Given the description of an element on the screen output the (x, y) to click on. 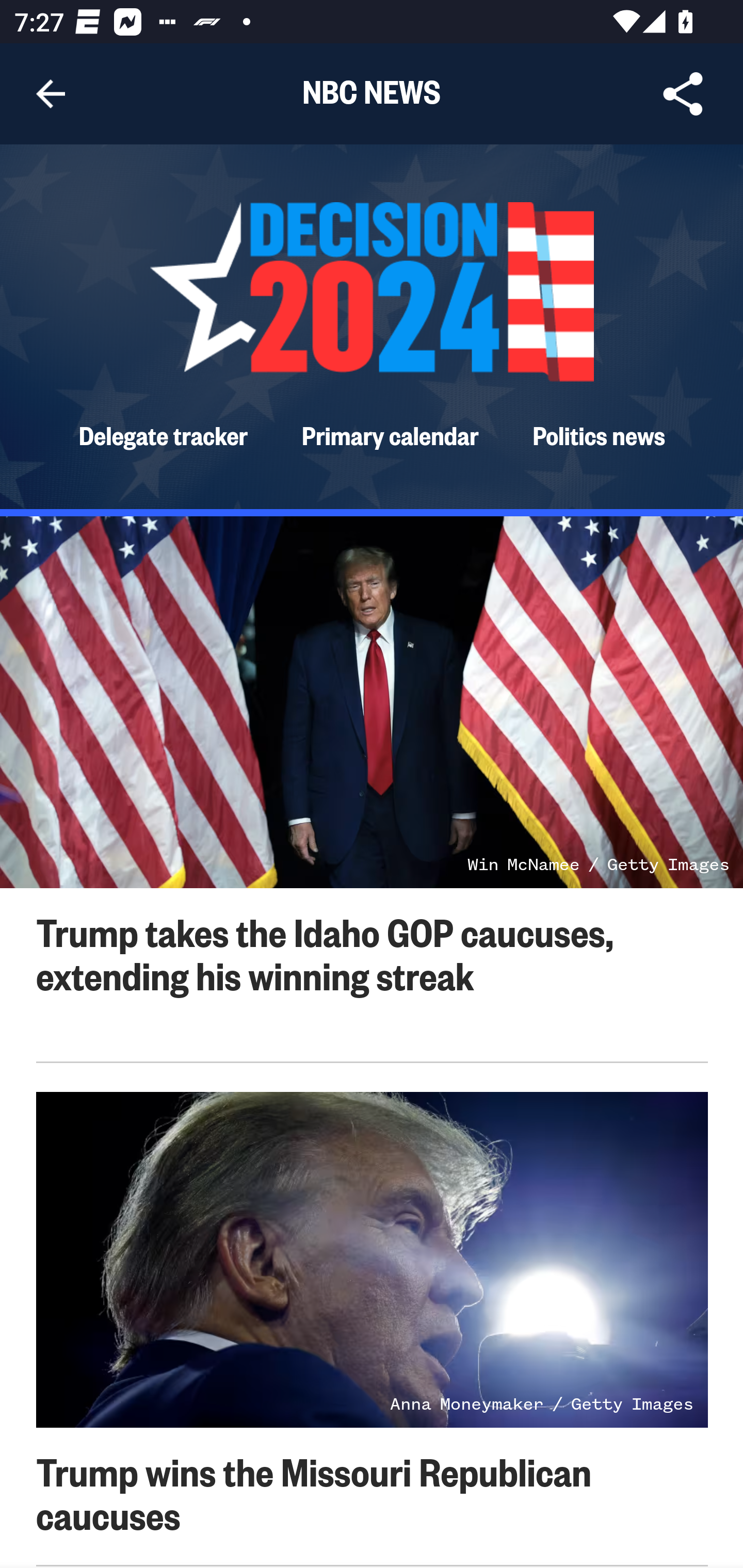
Navigate up (50, 93)
Share Article, button (683, 94)
Delegate tracker (162, 434)
Primary calendar (390, 434)
Politics news (598, 434)
Trump wins the Missouri Republican caucuses (314, 1491)
